Given the description of an element on the screen output the (x, y) to click on. 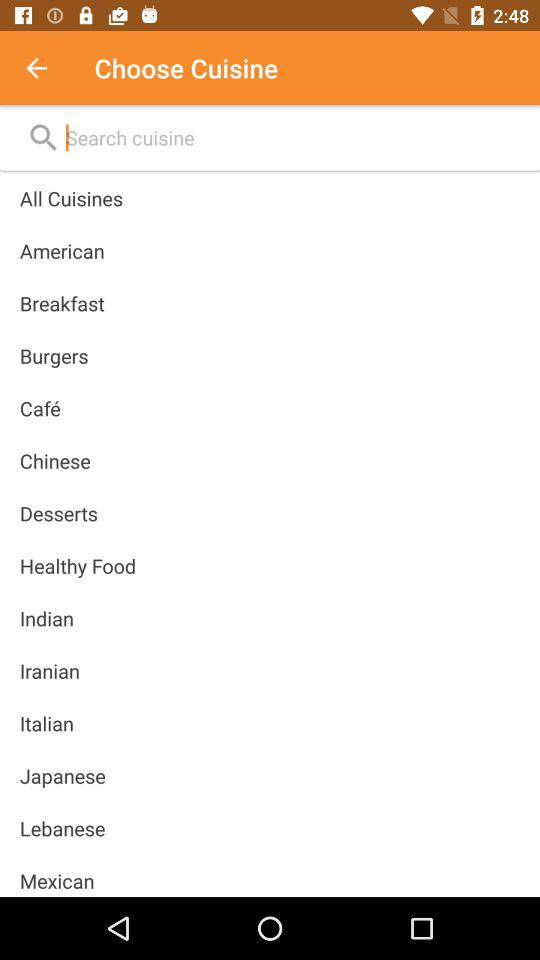
turn off the item below the chinese icon (58, 513)
